Given the description of an element on the screen output the (x, y) to click on. 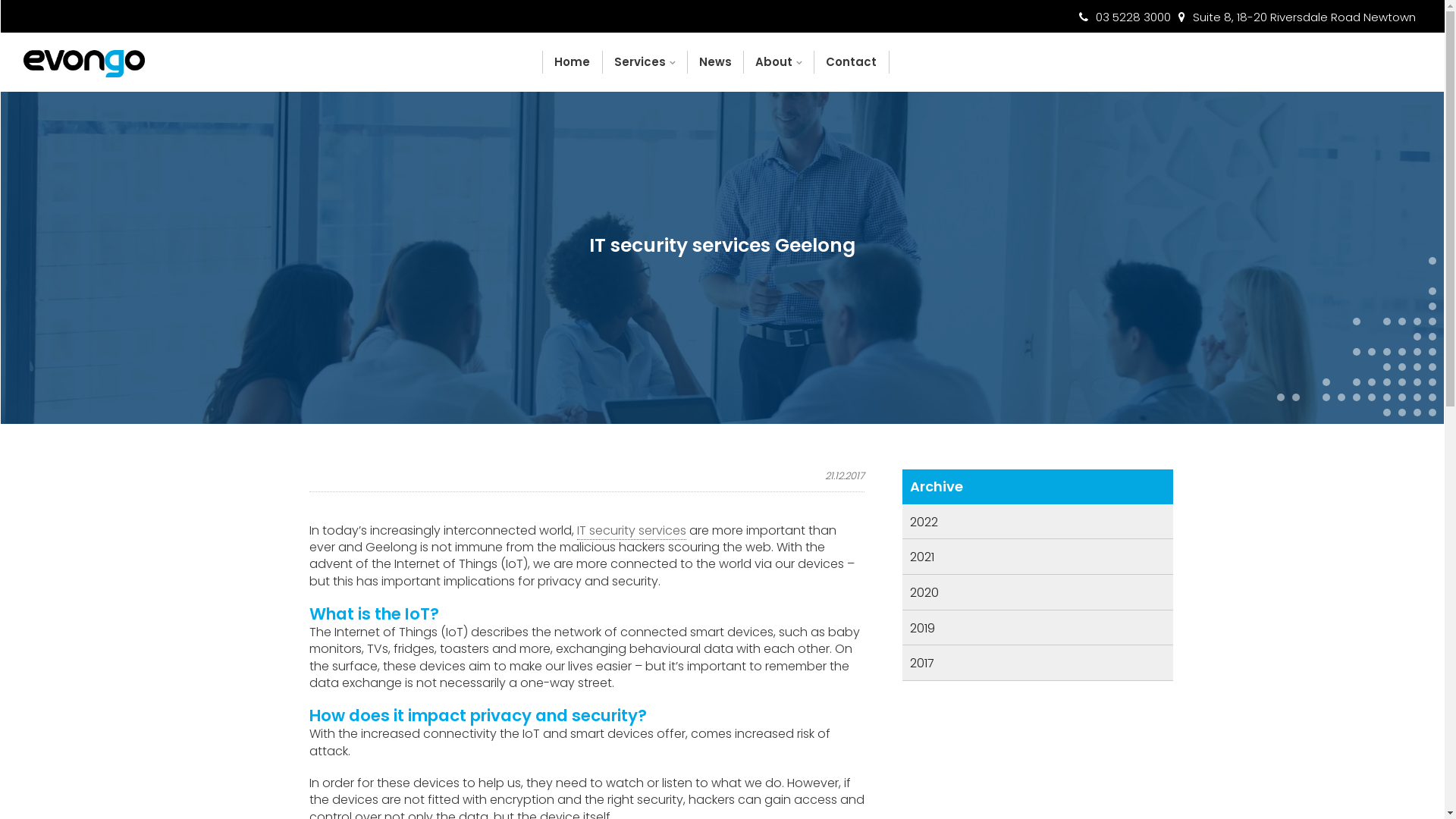
2021 Element type: text (922, 556)
2022 Element type: text (924, 521)
2020 Element type: text (924, 592)
About Element type: text (778, 61)
News Element type: text (715, 61)
Services Element type: text (644, 61)
Home Element type: text (572, 61)
Contact Element type: text (851, 61)
IT security services Element type: text (631, 530)
2019 Element type: text (922, 628)
2017 Element type: text (922, 662)
